Given the description of an element on the screen output the (x, y) to click on. 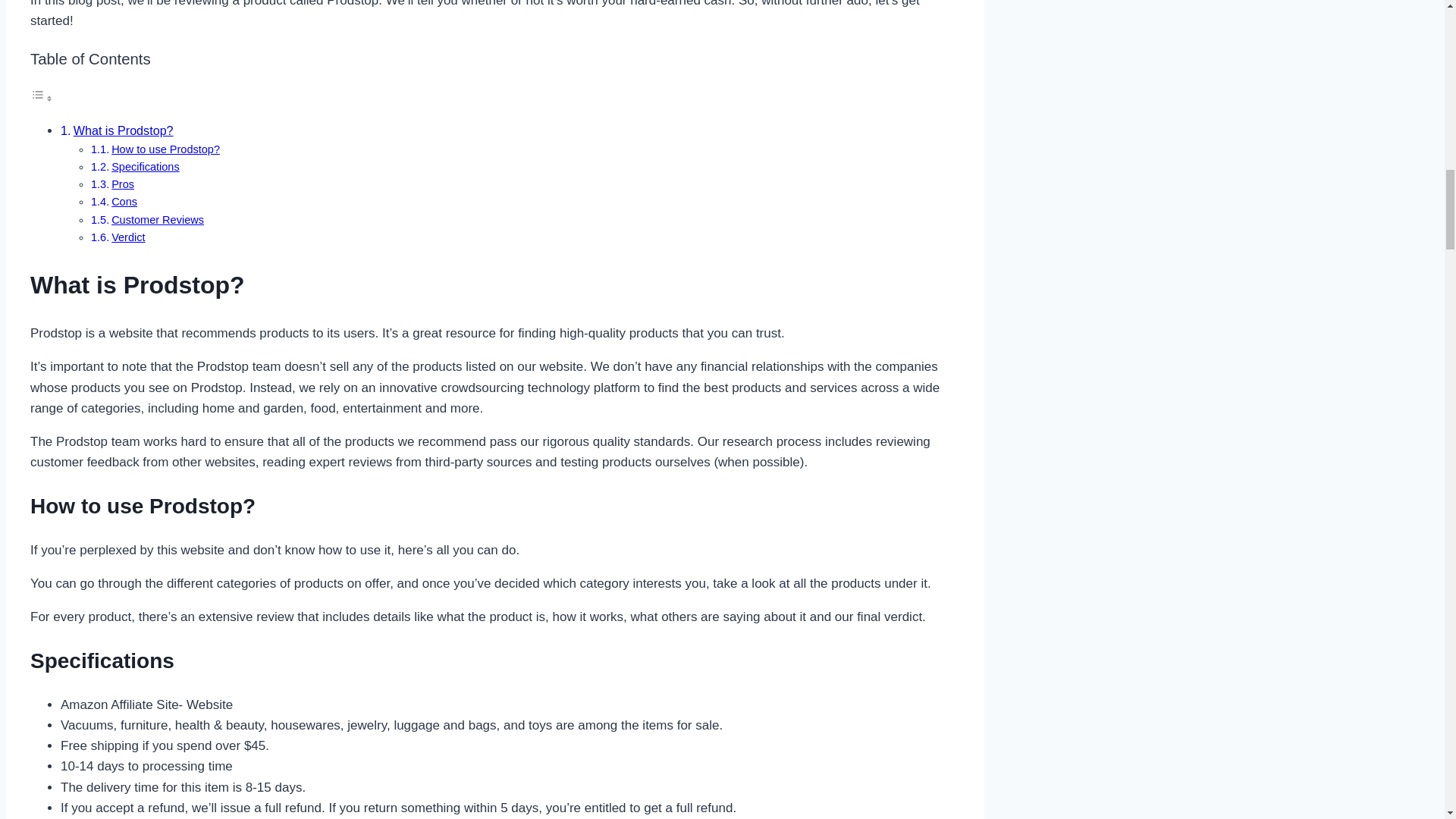
What is Prodstop? (123, 130)
Pros (122, 184)
Specifications (145, 166)
Cons (124, 201)
Pros (122, 184)
How to use Prodstop? (165, 149)
Customer Reviews (157, 219)
How to use Prodstop? (165, 149)
Cons (124, 201)
What is Prodstop? (123, 130)
Verdict (128, 236)
Specifications (145, 166)
Customer Reviews (157, 219)
Verdict (128, 236)
